Given the description of an element on the screen output the (x, y) to click on. 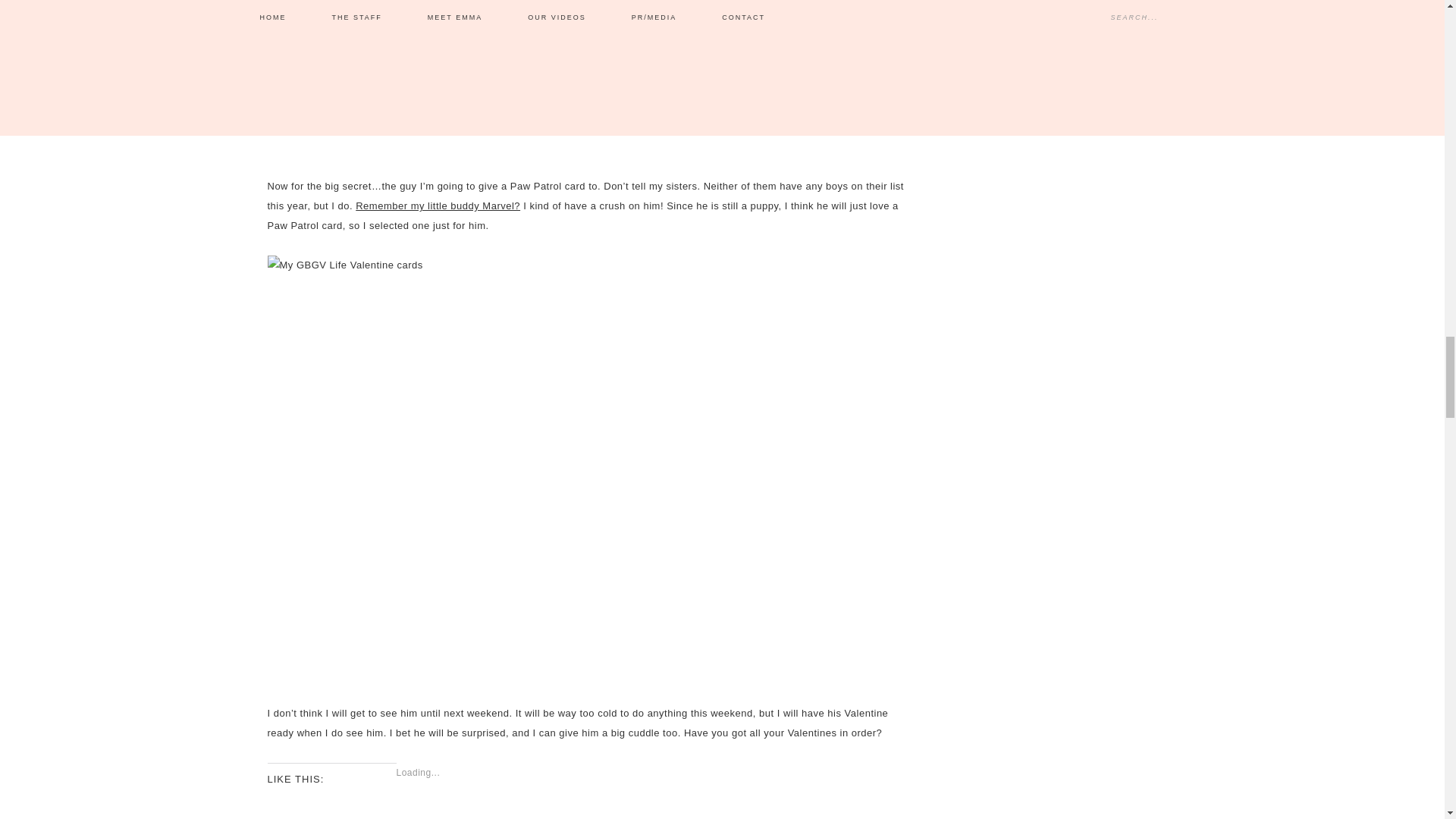
Remember my little buddy Marvel? (437, 205)
